Given the description of an element on the screen output the (x, y) to click on. 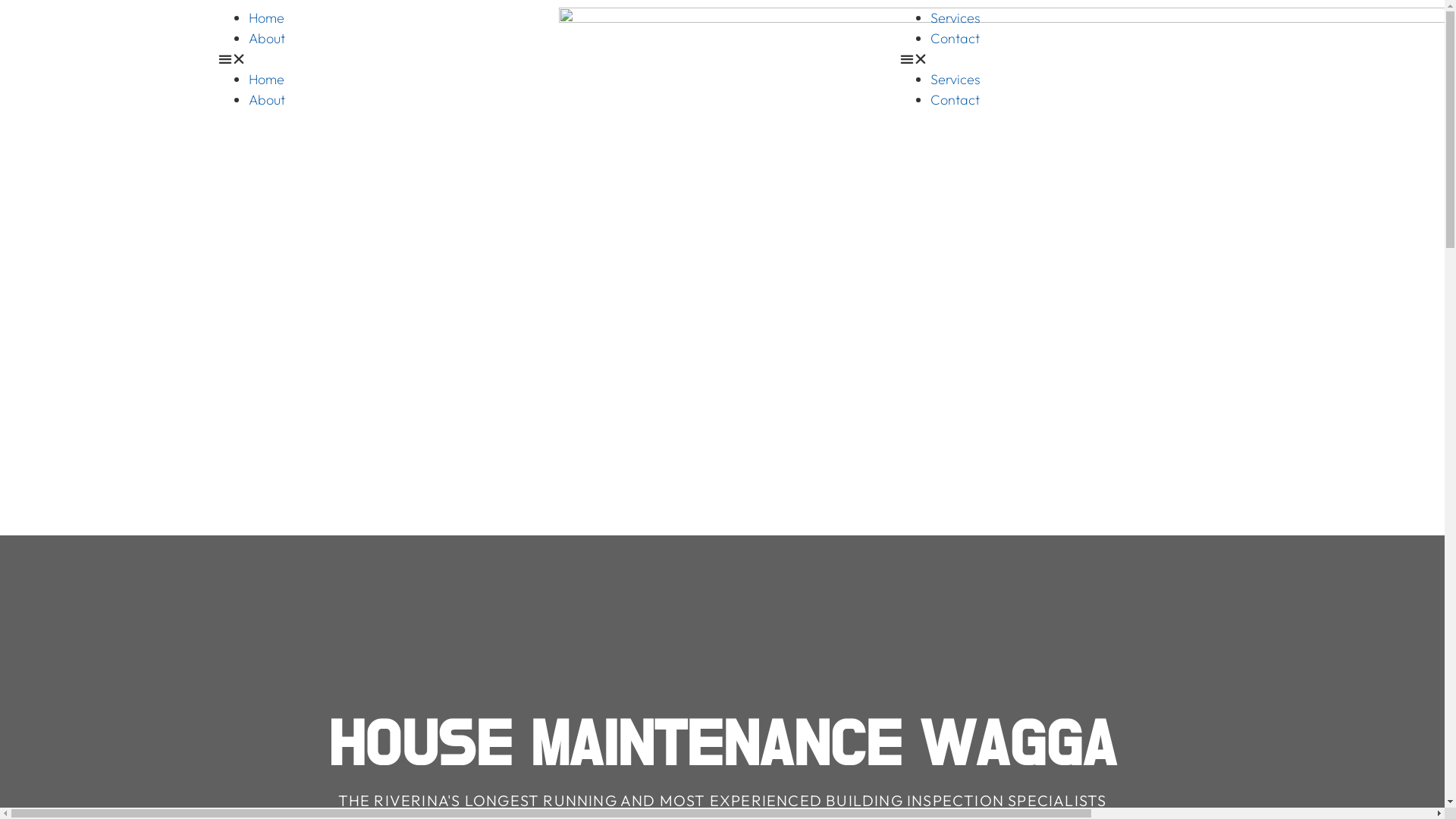
Services Element type: text (955, 17)
Contact Element type: text (954, 38)
Home Element type: text (266, 17)
Services Element type: text (955, 78)
Contact Element type: text (954, 99)
About Element type: text (266, 99)
Home Element type: text (266, 78)
About Element type: text (266, 38)
